Given the description of an element on the screen output the (x, y) to click on. 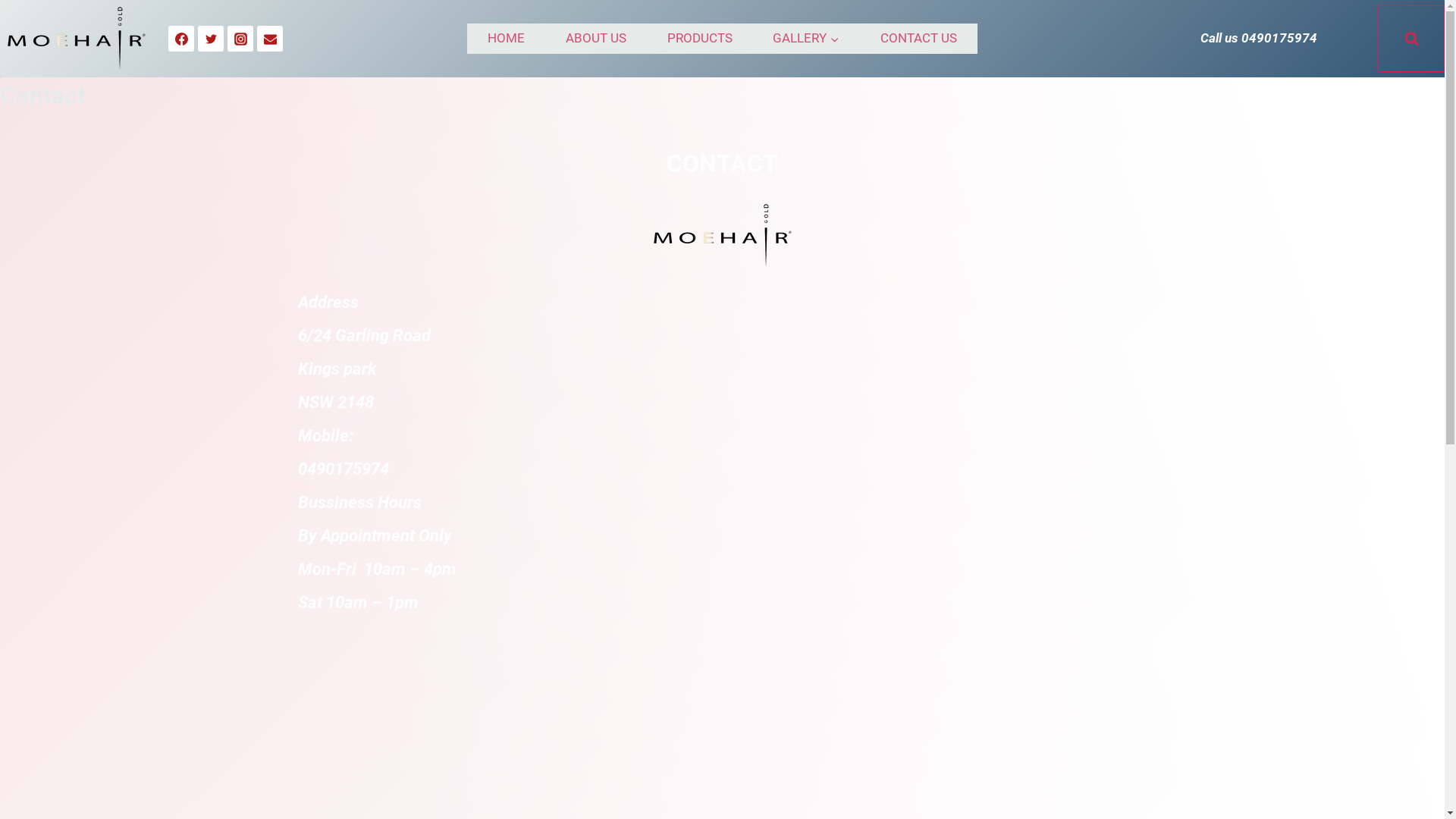
PRODUCTS Element type: text (699, 38)
GALLERY Element type: text (805, 38)
CONTACT US Element type: text (918, 38)
ABOUT US Element type: text (595, 38)
HOME Element type: text (506, 38)
